Given the description of an element on the screen output the (x, y) to click on. 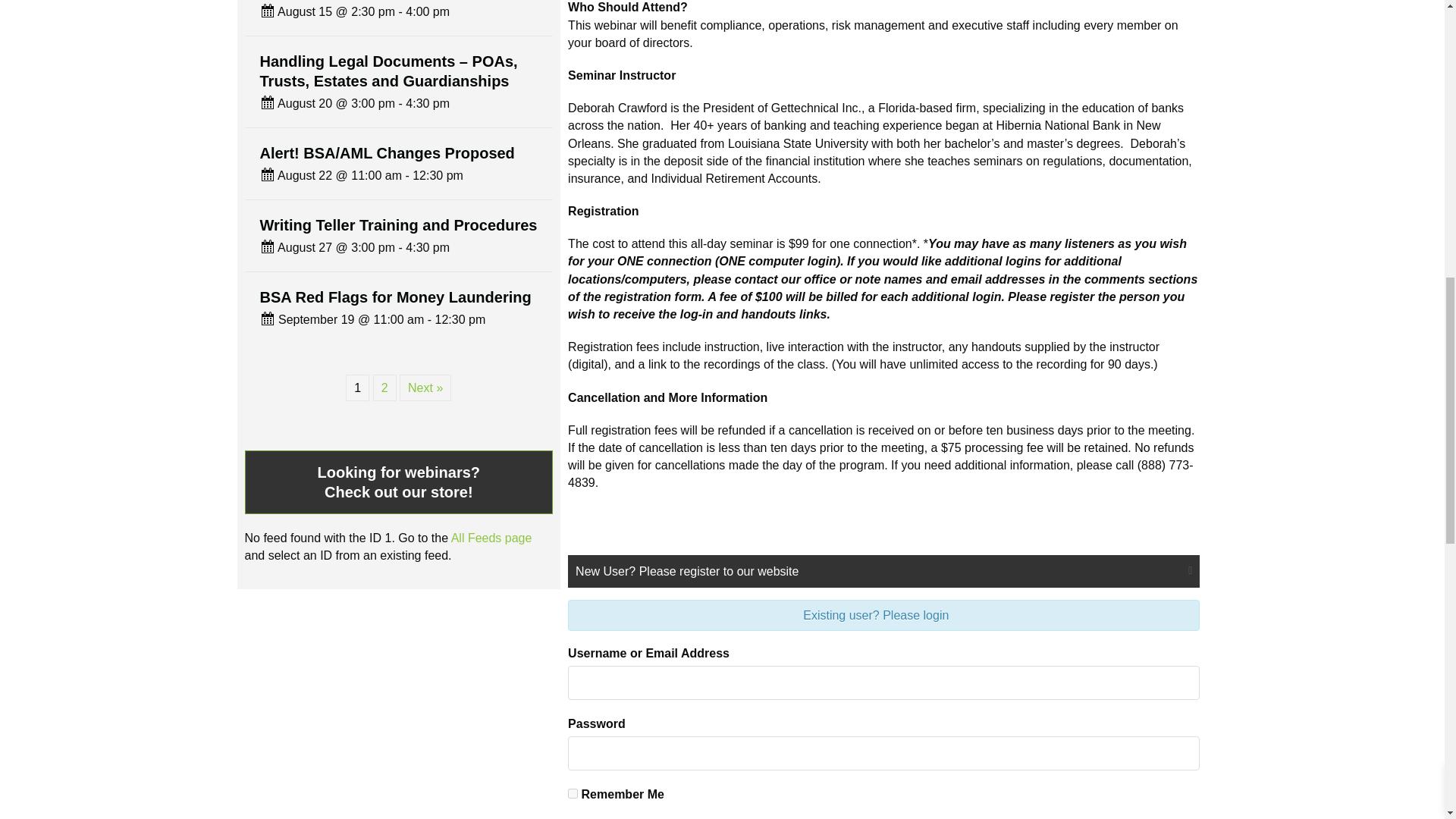
forever (572, 793)
BSA Red Flags for Money Laundering (395, 297)
Writing Teller Training and Procedures (398, 225)
